Given the description of an element on the screen output the (x, y) to click on. 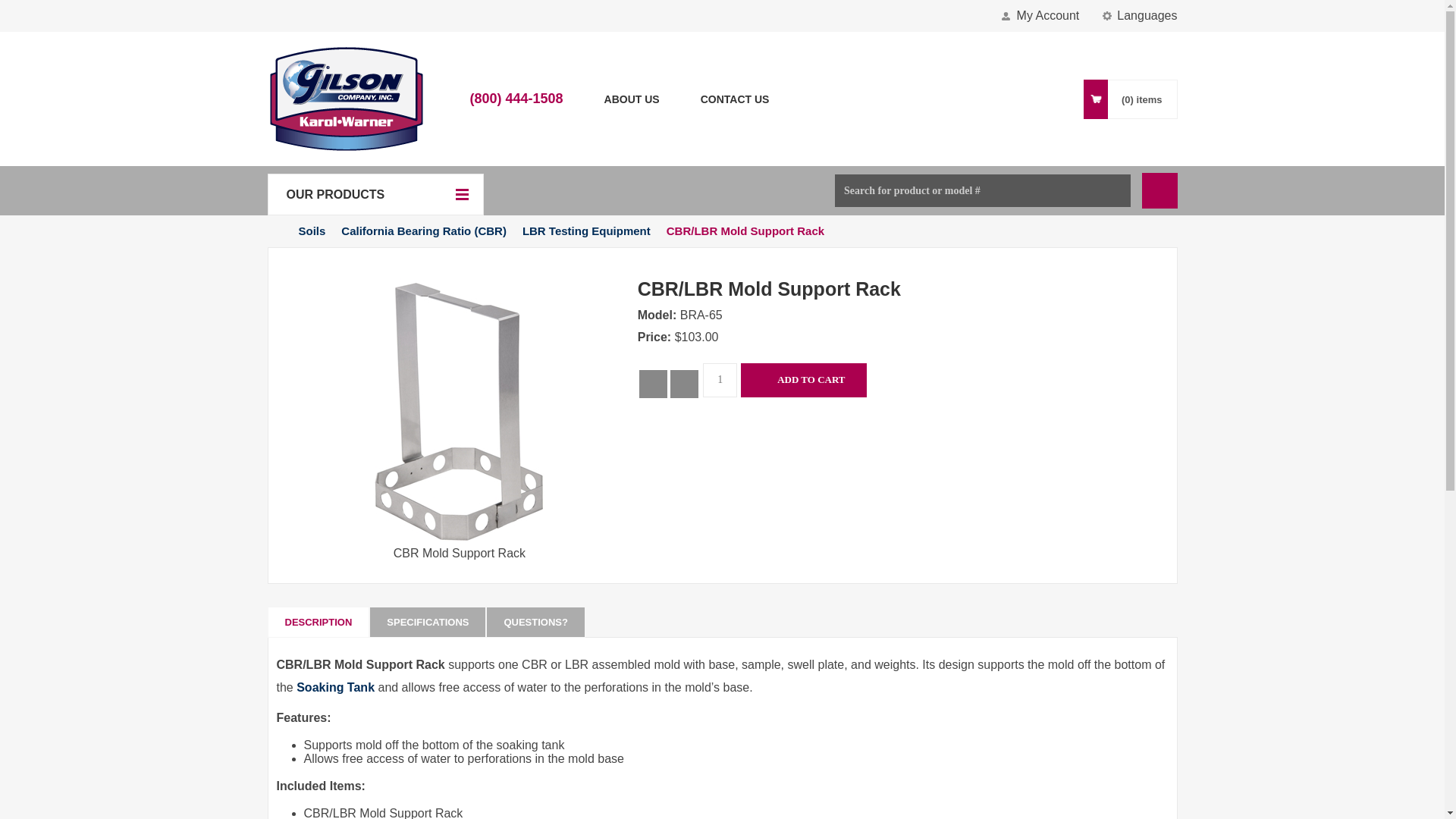
CBR Mold Support Rack (459, 419)
Add to Favorites (652, 384)
ABOUT US (631, 98)
Search (1159, 190)
About Us (631, 98)
Search (1159, 190)
Email this to a friend (683, 384)
Add to cart (803, 380)
Contact us (734, 98)
Email a friend (683, 384)
